Given the description of an element on the screen output the (x, y) to click on. 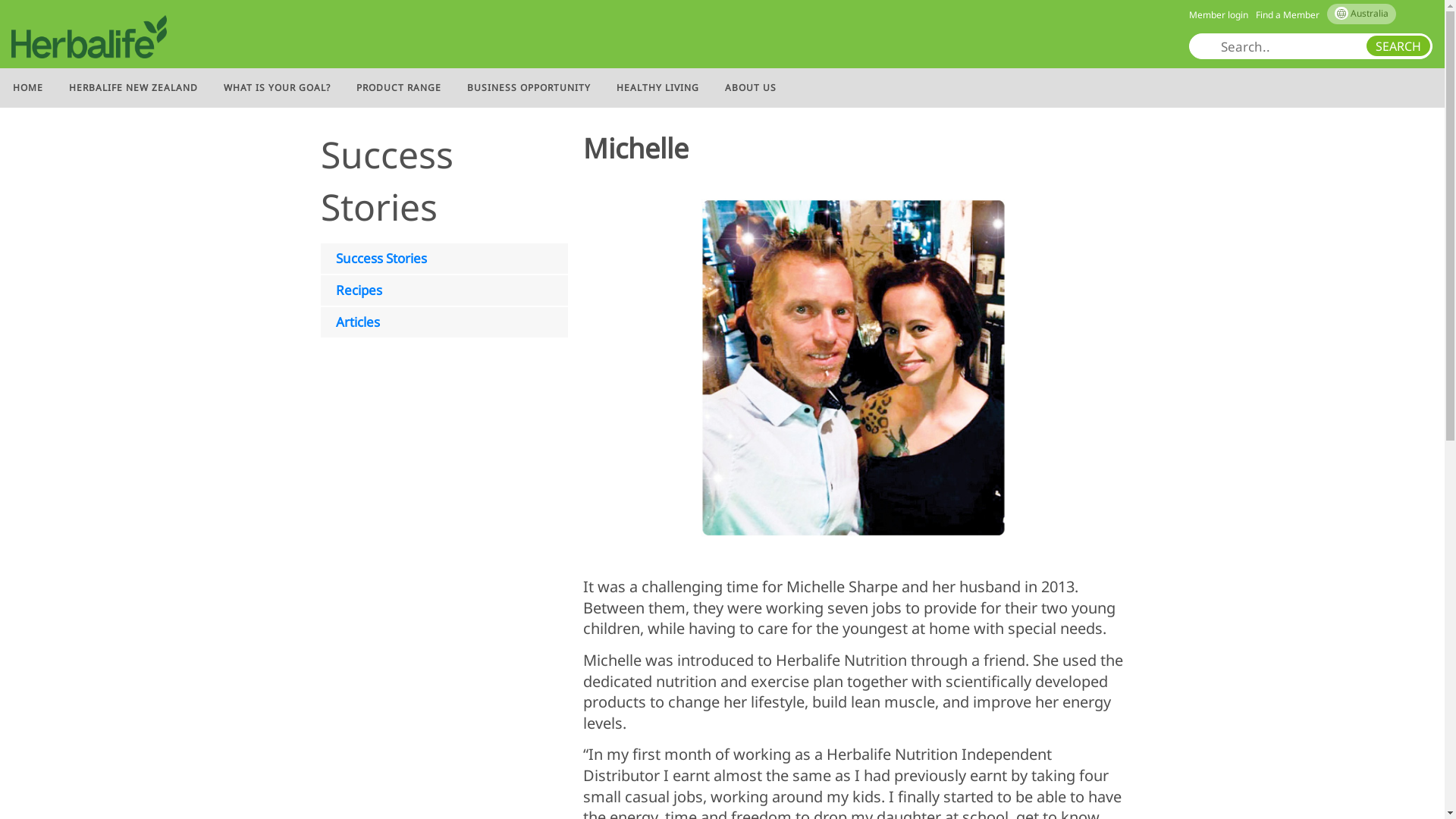
WHAT IS YOUR GOAL? Element type: text (276, 87)
Find a Member Element type: text (1287, 14)
HERBALIFE NEW ZEALAND Element type: text (133, 87)
Articles Element type: text (443, 322)
SEARCH Element type: text (1398, 45)
Australia Element type: text (1369, 12)
ABOUT US Element type: text (750, 87)
Success Stories Element type: text (443, 258)
PRODUCT RANGE Element type: text (398, 87)
Member login Element type: text (1218, 14)
Recipes Element type: text (443, 290)
HEALTHY LIVING Element type: text (657, 87)
HOME Element type: text (28, 87)
BUSINESS OPPORTUNITY Element type: text (528, 87)
